Given the description of an element on the screen output the (x, y) to click on. 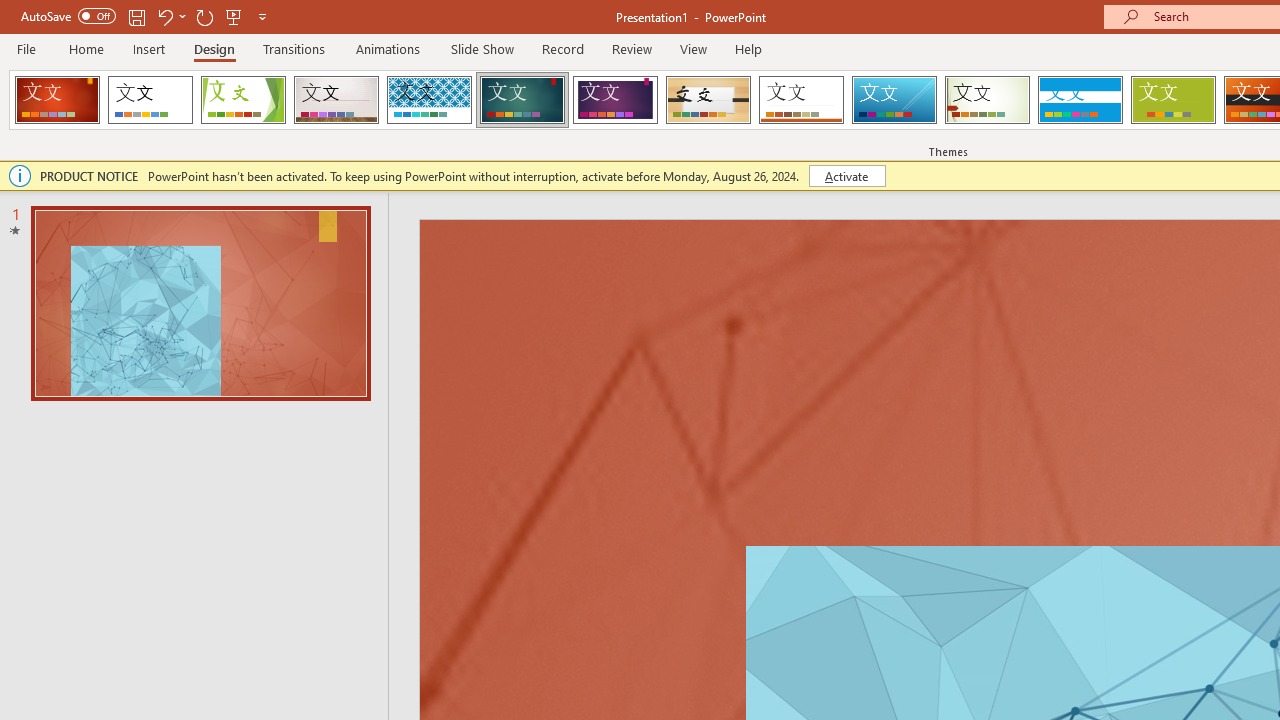
Wisp (987, 100)
Facet (243, 100)
Office Theme (150, 100)
Basis (1172, 100)
Ion Boardroom (615, 100)
